Given the description of an element on the screen output the (x, y) to click on. 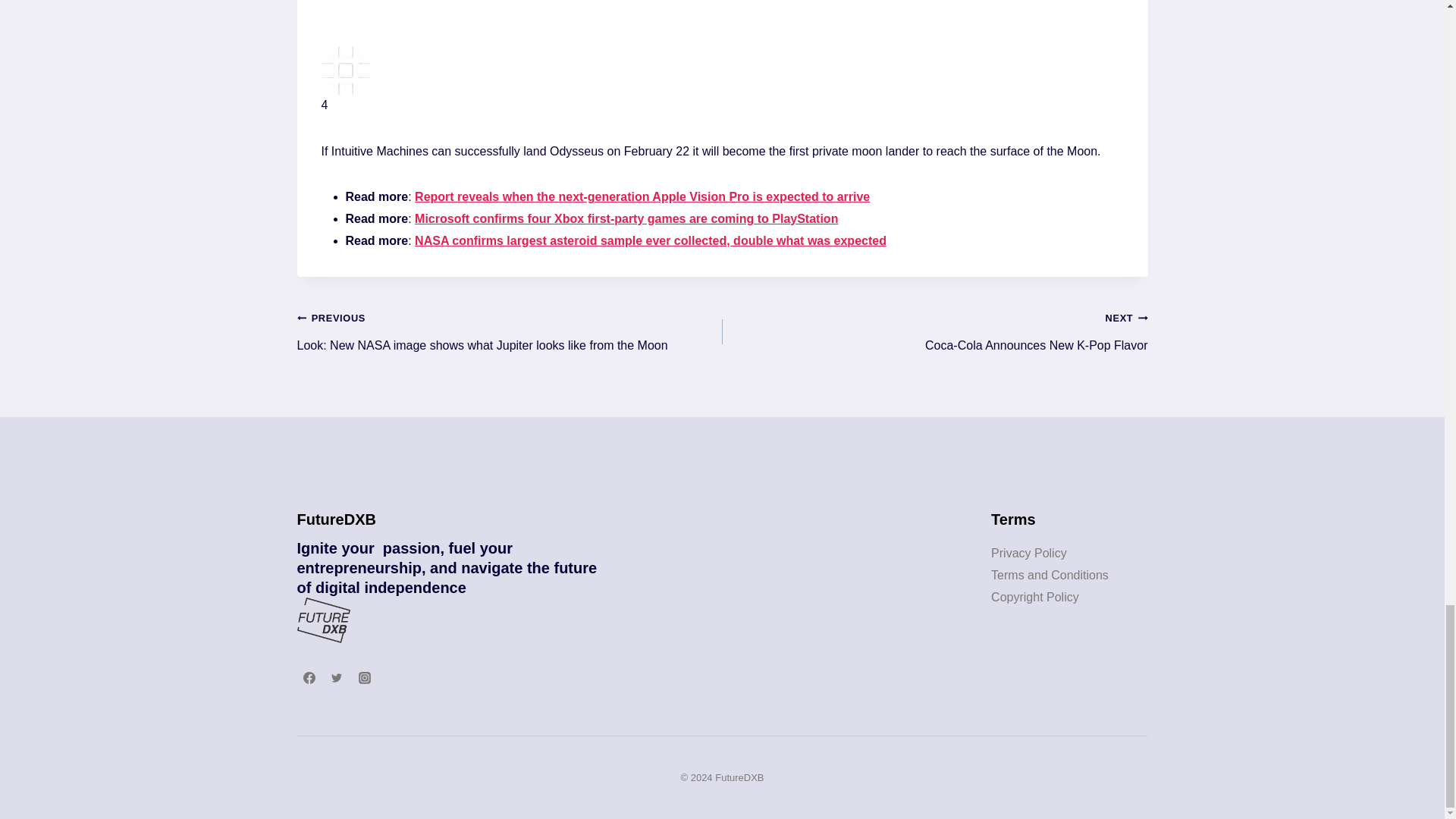
Terms and Conditions (934, 332)
Privacy Policy (1049, 574)
Copyright Policy (1029, 553)
Open Gallery (1034, 596)
